Given the description of an element on the screen output the (x, y) to click on. 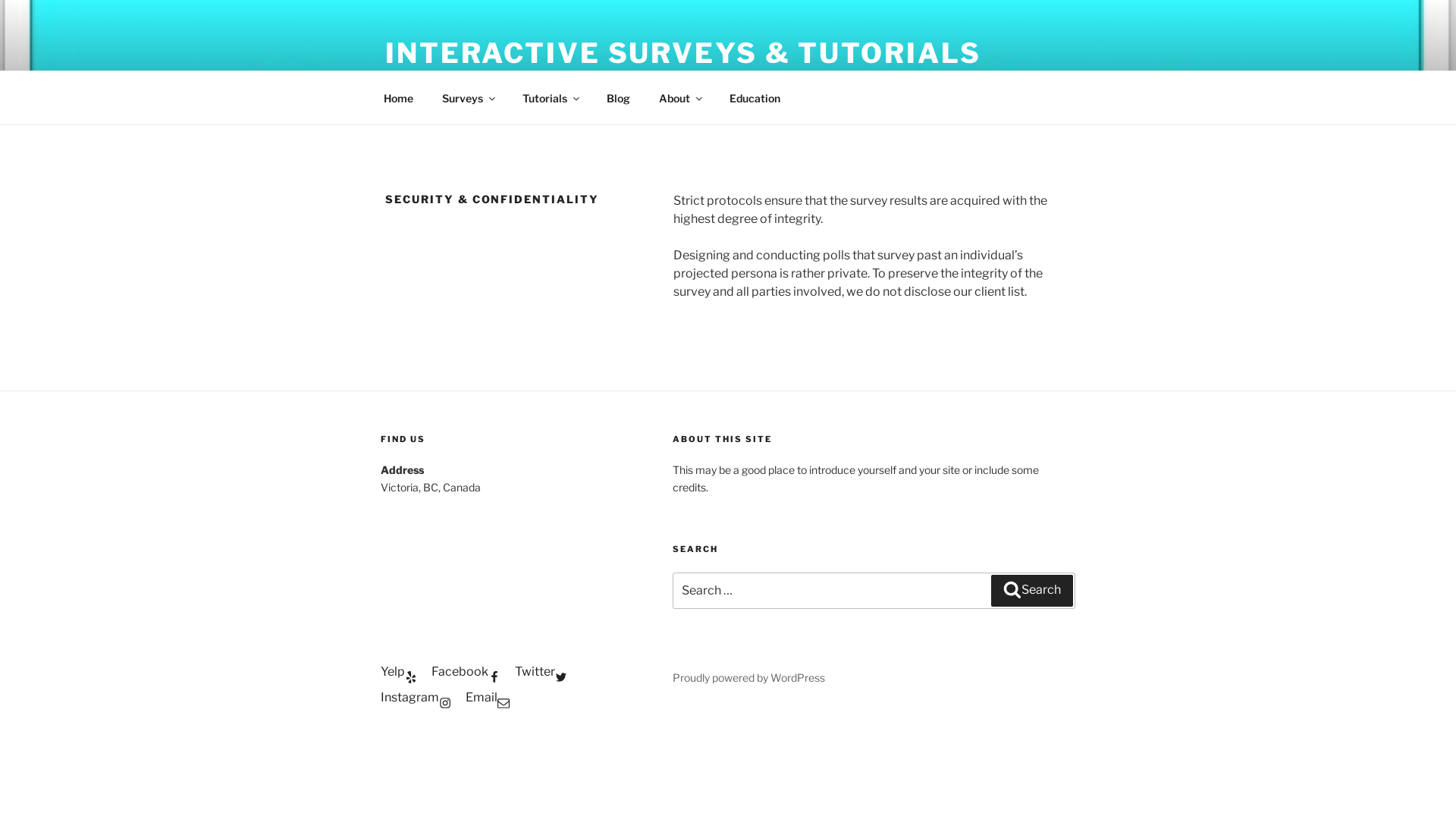
INTERACTIVE SURVEYS & TUTORIALS Element type: text (683, 52)
Tutorials Element type: text (549, 97)
About Element type: text (679, 97)
Home Element type: text (398, 97)
Search Element type: text (1032, 590)
Email Element type: text (487, 697)
Skip to content Element type: text (0, 0)
Instagram Element type: text (415, 697)
Surveys Element type: text (467, 97)
Education Element type: text (754, 97)
Blog Element type: text (618, 97)
Yelp Element type: text (398, 671)
Proudly powered by WordPress Element type: text (748, 677)
Facebook Element type: text (465, 671)
Twitter Element type: text (540, 671)
